Given the description of an element on the screen output the (x, y) to click on. 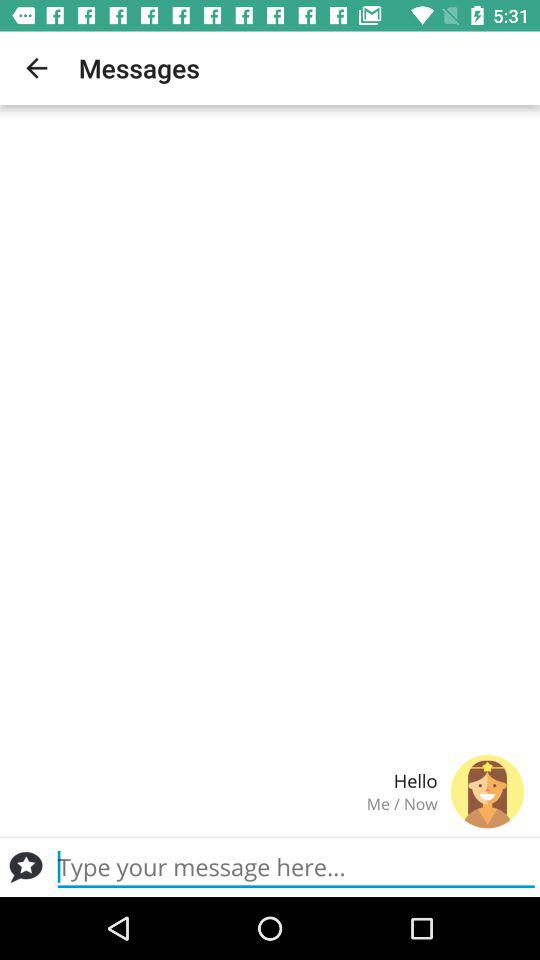
open app to the left of messages app (36, 68)
